Given the description of an element on the screen output the (x, y) to click on. 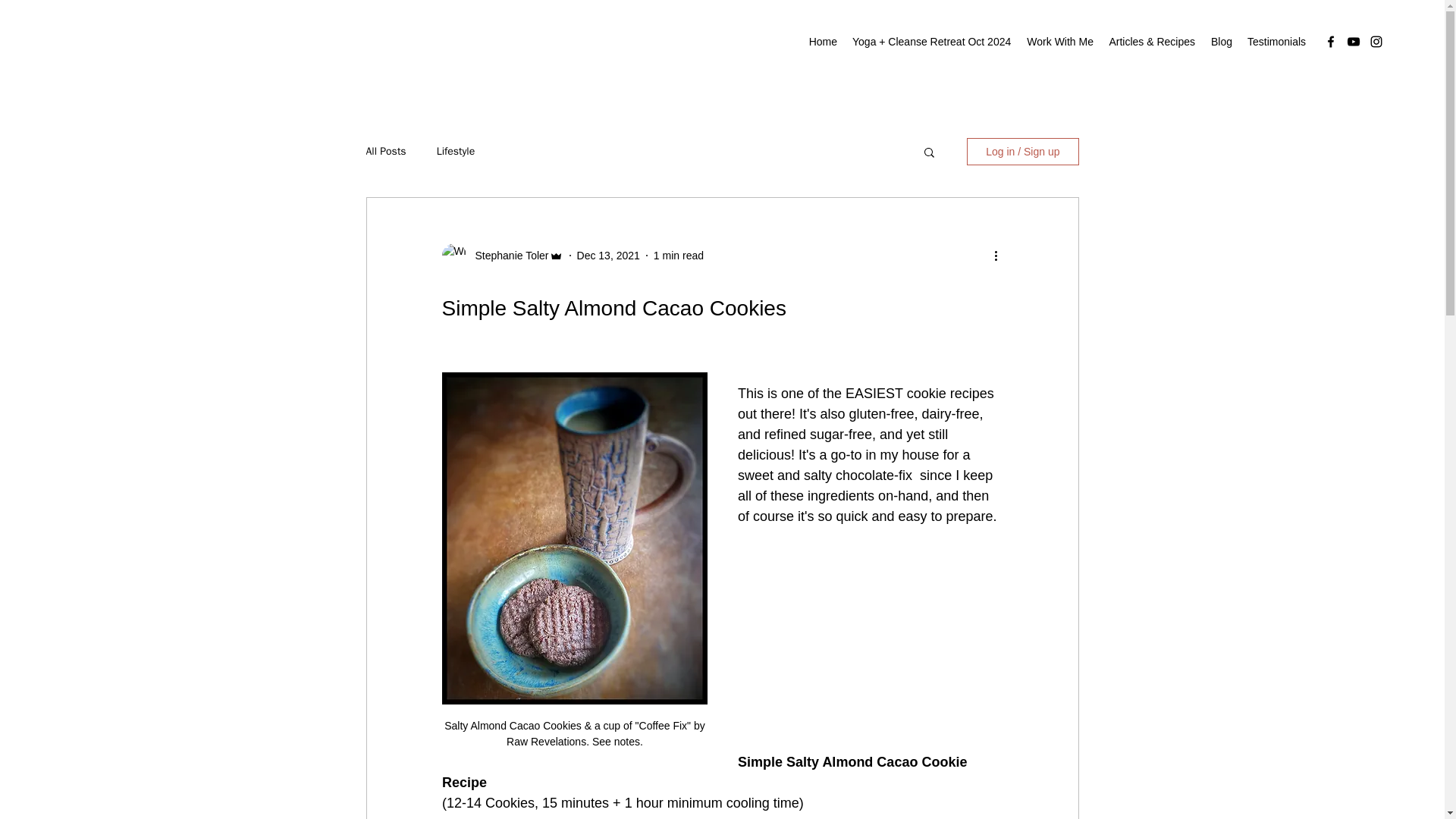
Home (822, 41)
All Posts (385, 151)
Work With Me (1058, 41)
Dec 13, 2021 (608, 254)
Blog (1221, 41)
Stephanie Toler (506, 254)
Testimonials (1275, 41)
1 min read (678, 254)
Lifestyle (456, 151)
